Given the description of an element on the screen output the (x, y) to click on. 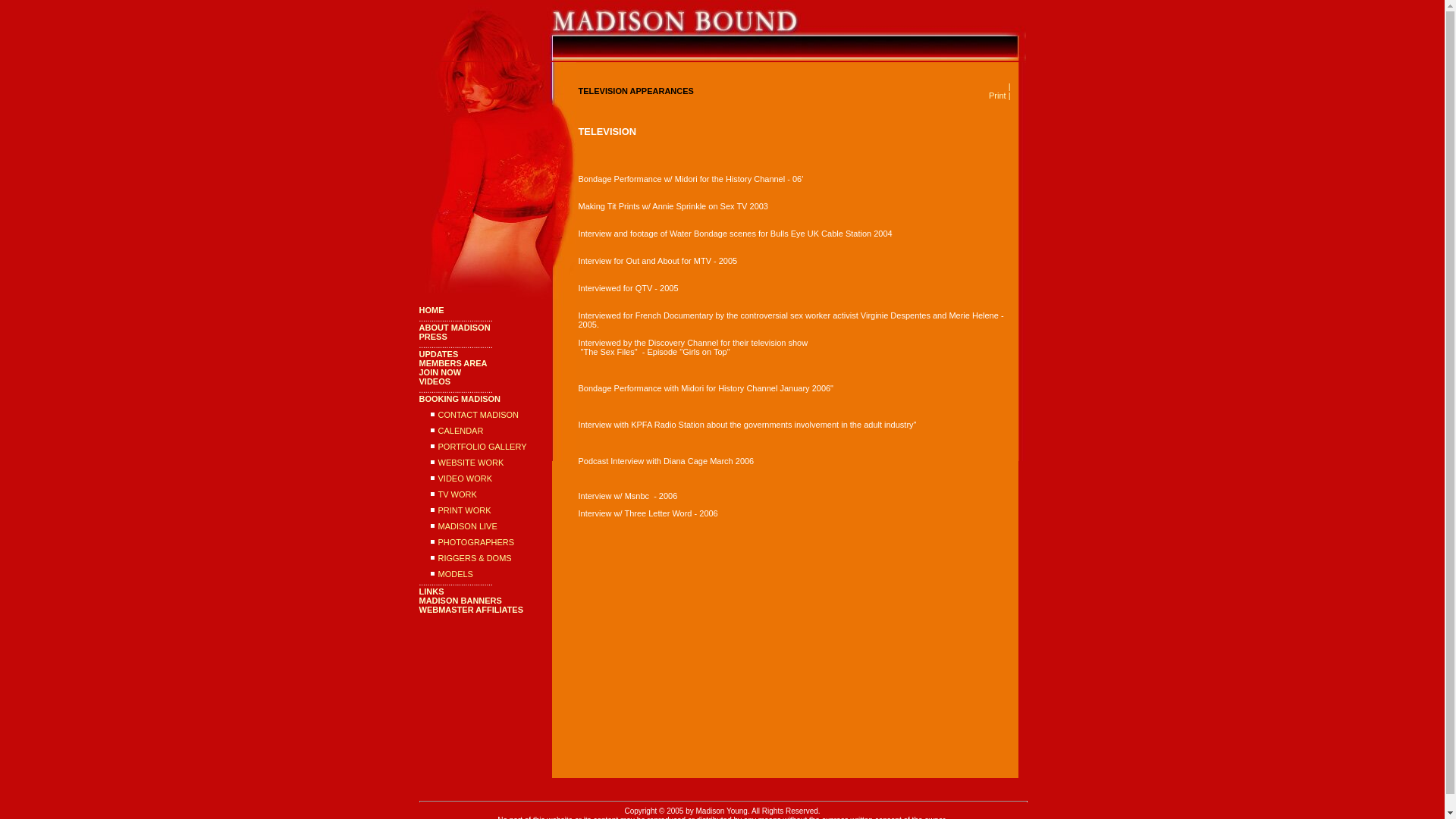
MADISON LIVE (467, 525)
PORTFOLIO GALLERY (482, 446)
LINKS (431, 591)
PRINT WORK (465, 510)
WEBMASTER AFFILIATES (470, 609)
WEBSITE WORK (470, 461)
HOME (431, 309)
VIDEOS (434, 380)
CONTACT MADISON (478, 414)
VIDEO WORK (465, 478)
